Given the description of an element on the screen output the (x, y) to click on. 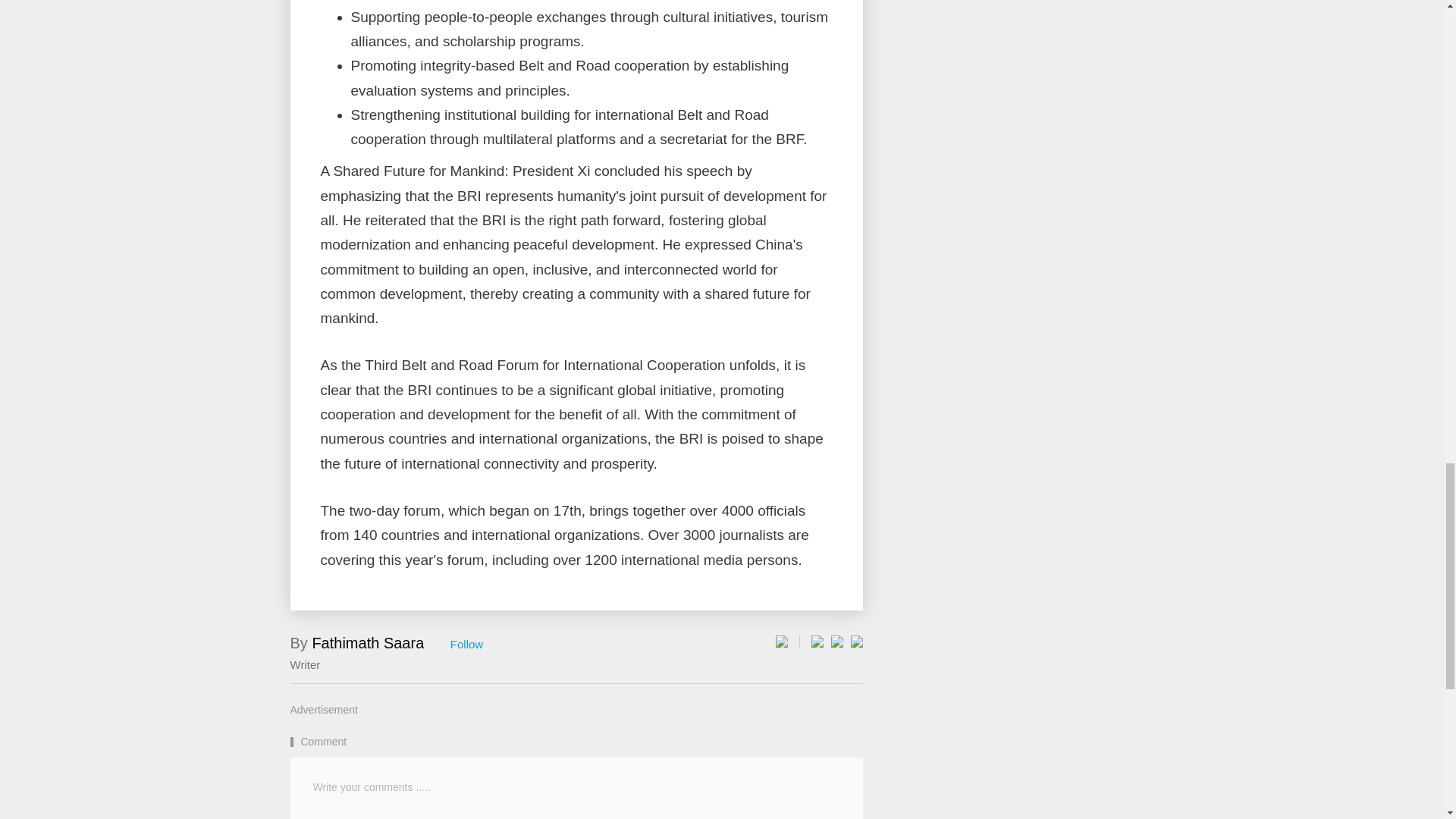
Fathimath Saara (367, 642)
